Given the description of an element on the screen output the (x, y) to click on. 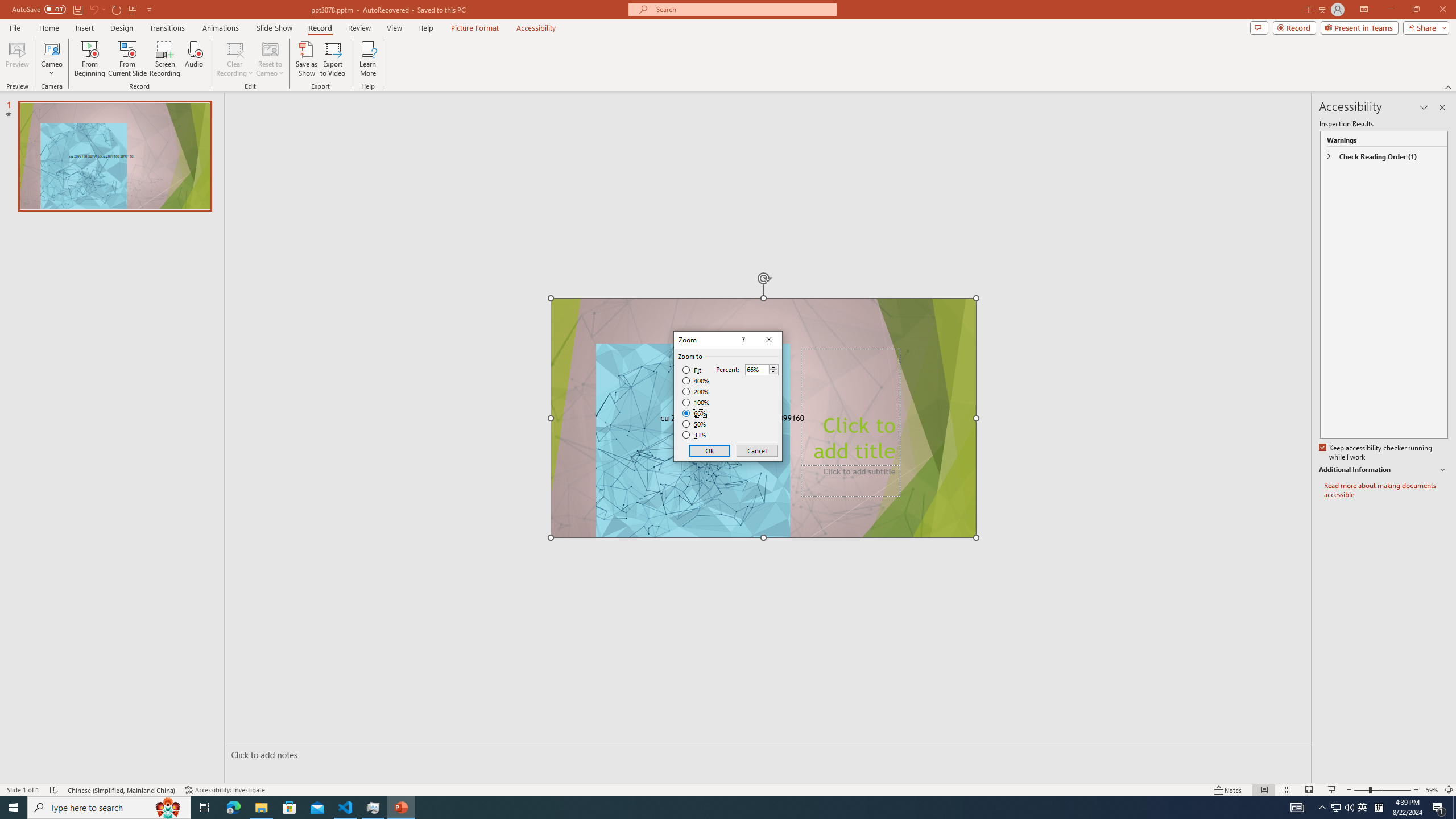
Reset to Cameo (269, 58)
Cancel (756, 450)
200% (696, 391)
50% (694, 424)
Running applications (707, 807)
Screen Recording (165, 58)
Q2790: 100% (1349, 807)
Show desktop (1454, 807)
Save as Show (306, 58)
More (772, 366)
